Given the description of an element on the screen output the (x, y) to click on. 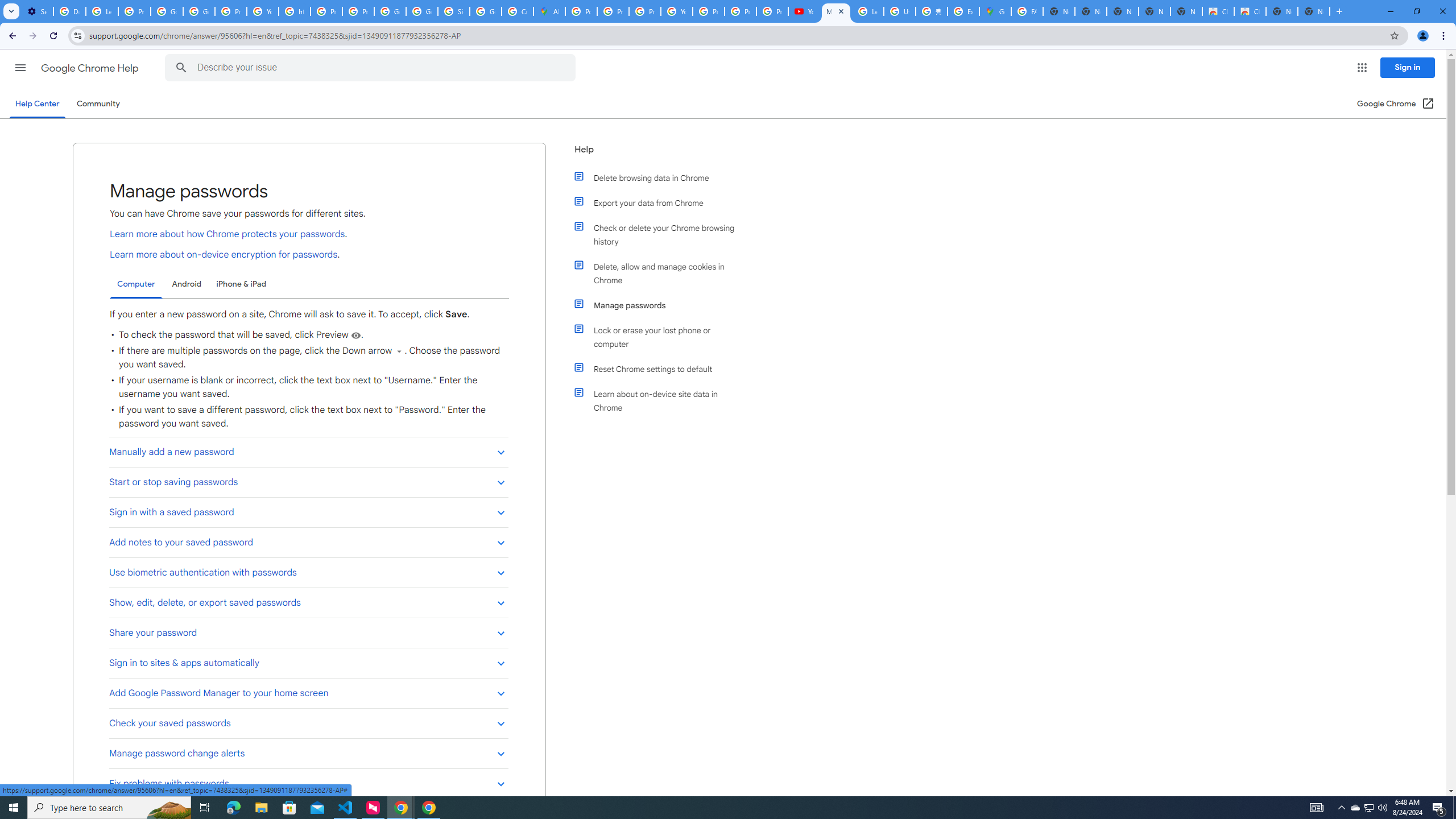
Computer (136, 284)
New Tab (1313, 11)
Sign in with a saved password (308, 512)
Help Center (36, 103)
Export your data from Chrome (661, 202)
Check or delete your Chrome browsing history (661, 234)
Google Maps (995, 11)
Learn more about how Chrome protects your passwords (227, 233)
